Given the description of an element on the screen output the (x, y) to click on. 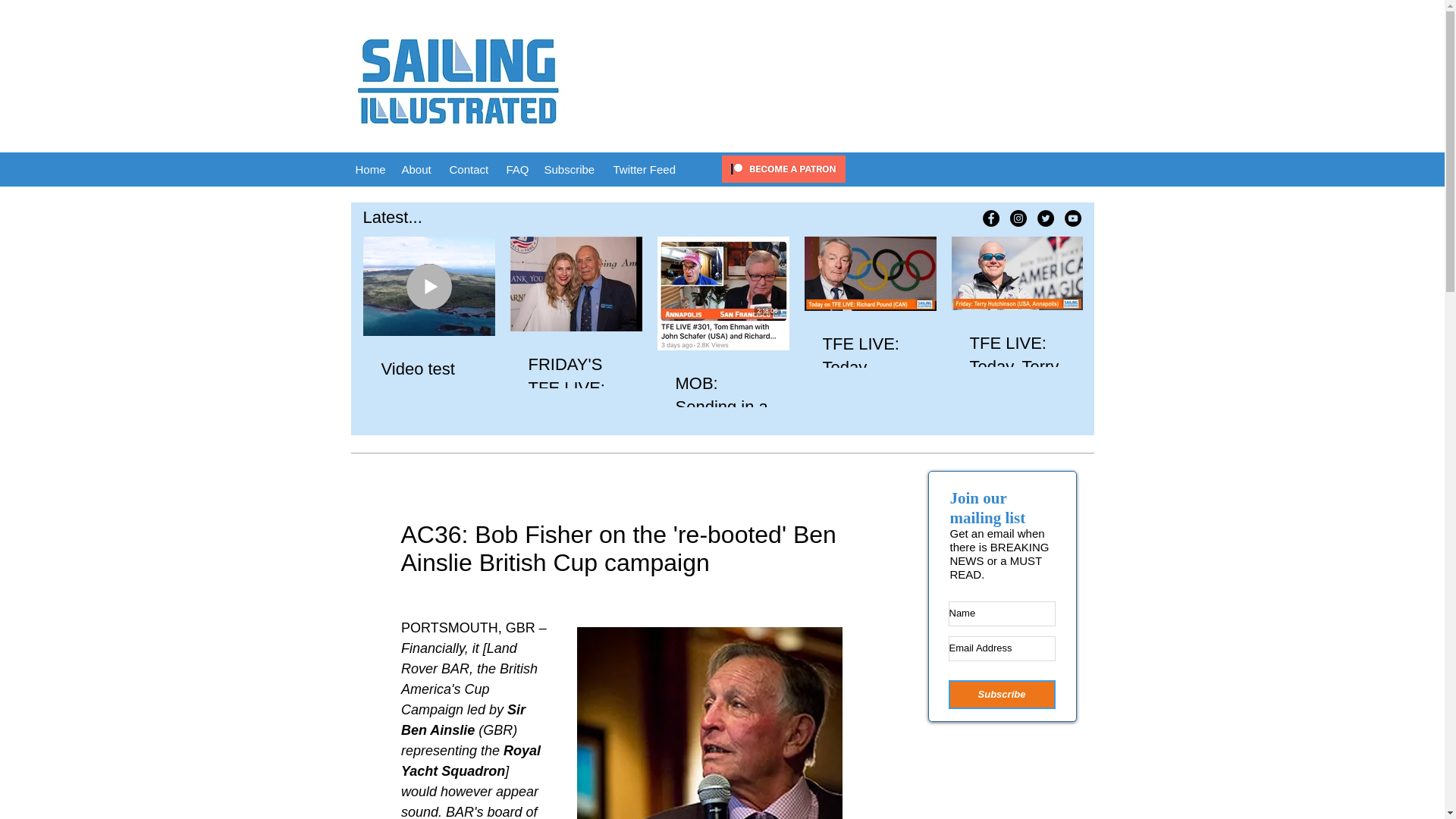
Video test (428, 369)
MOB: Sending in a Second Soul? (722, 419)
About (418, 168)
Subscribe (571, 168)
FAQ (518, 168)
Subscribe (1000, 694)
Twitter Feed (645, 168)
Contact (469, 168)
Home (370, 168)
